Given the description of an element on the screen output the (x, y) to click on. 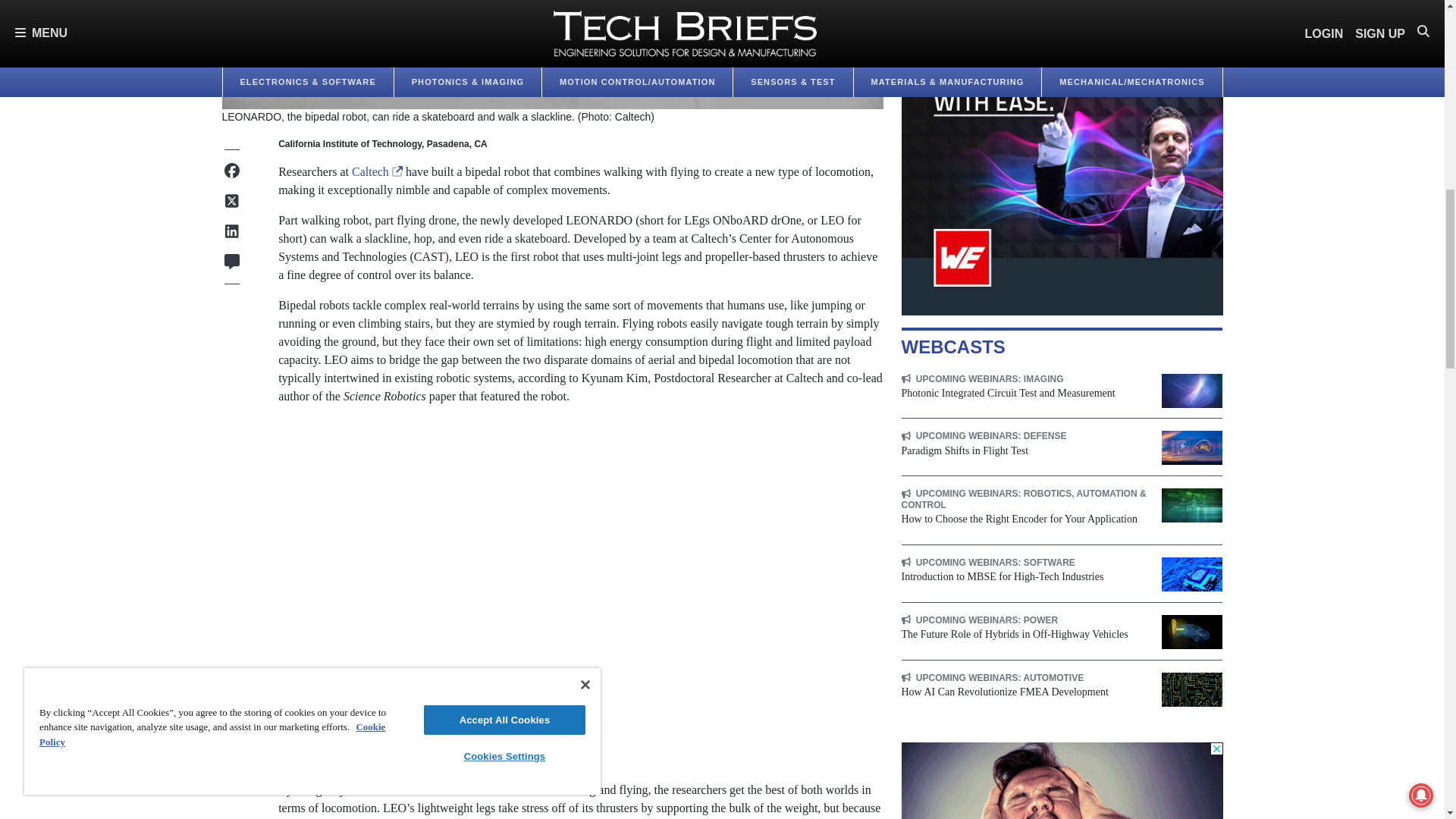
3rd party ad content (1062, 780)
3rd party ad content (1062, 157)
